Given the description of an element on the screen output the (x, y) to click on. 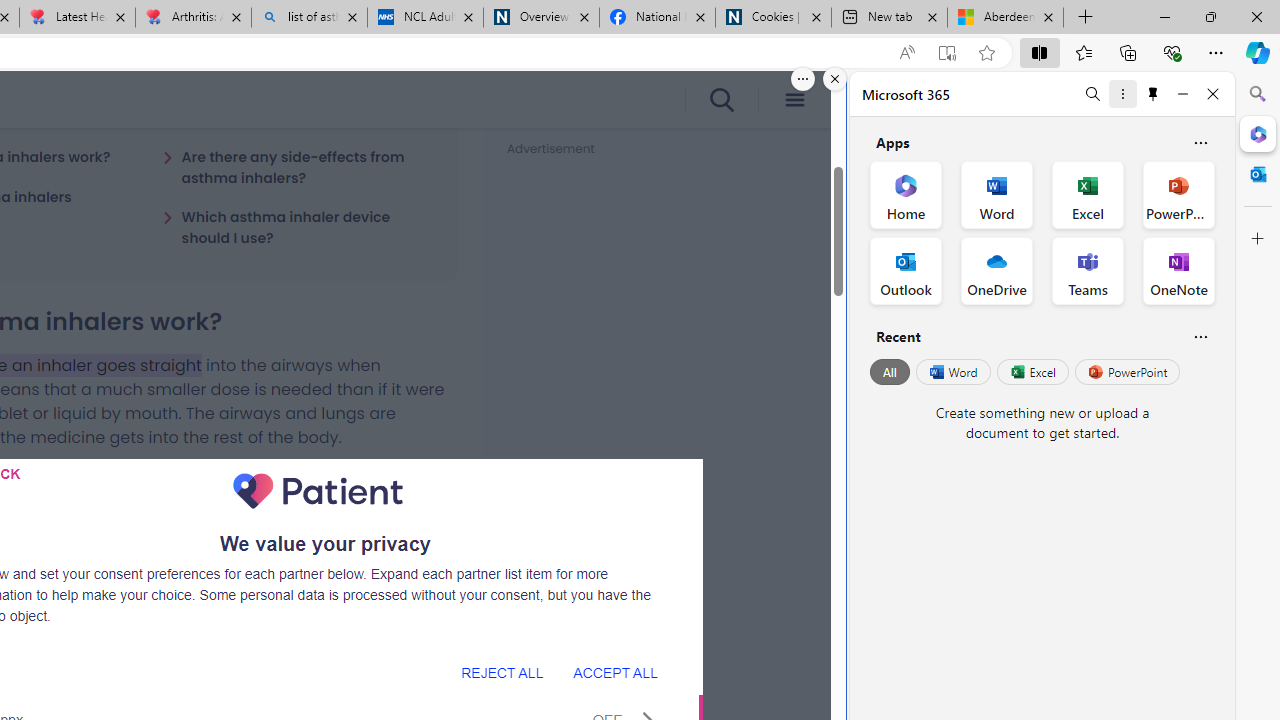
Cookies | About | NICE (772, 17)
Which asthma inhaler device should I use? (298, 227)
OneDrive Office App (996, 270)
Publisher Logo (317, 491)
ACCEPT ALL (615, 672)
list of asthma inhalers uk - Search (309, 17)
Close split screen. (835, 79)
Aberdeen, Hong Kong SAR hourly forecast | Microsoft Weather (1005, 17)
PowerPoint (1127, 372)
